Given the description of an element on the screen output the (x, y) to click on. 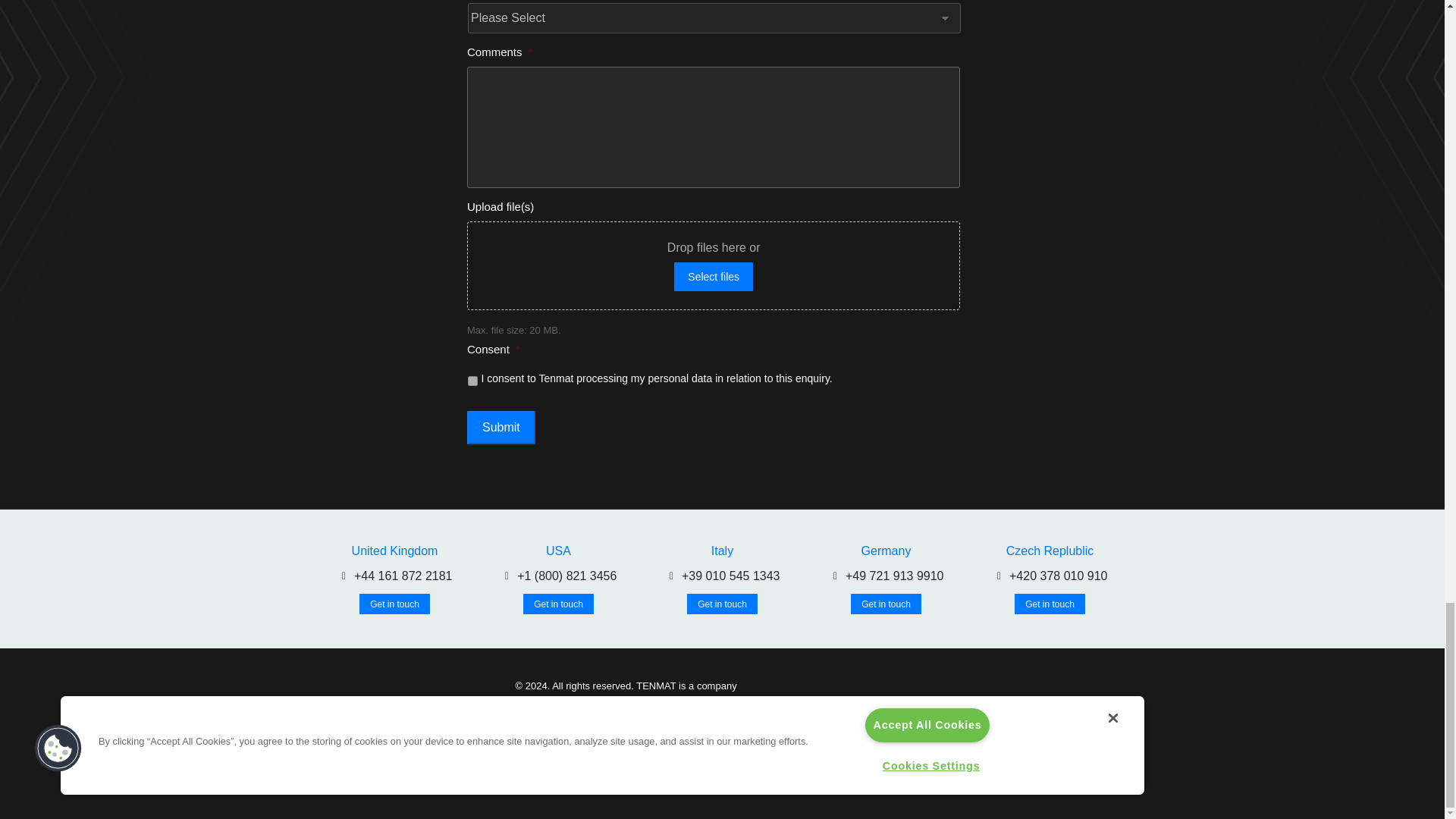
Submit (501, 426)
